Given the description of an element on the screen output the (x, y) to click on. 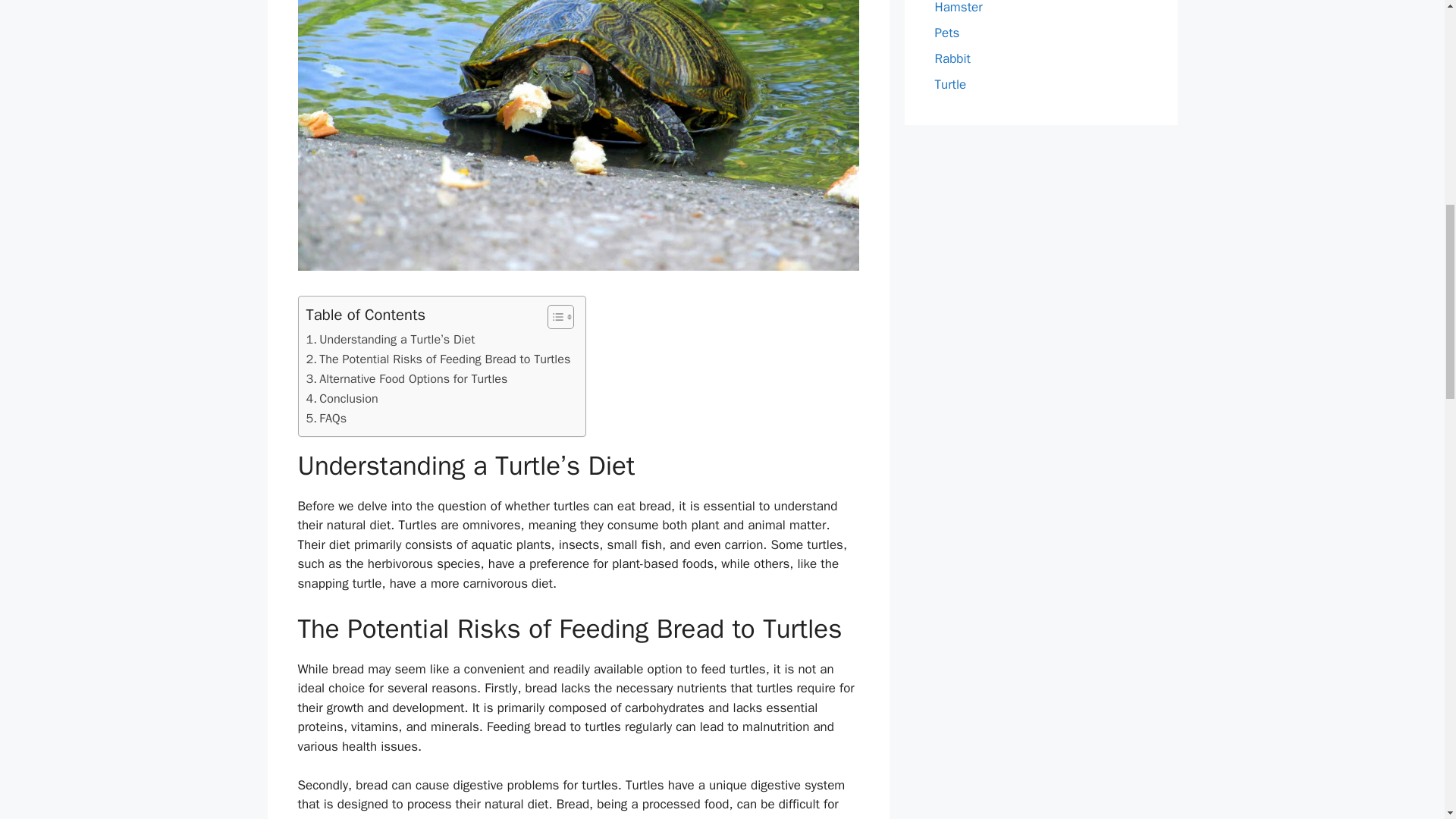
FAQs (326, 418)
Conclusion (341, 398)
Hamster (957, 7)
Conclusion (341, 398)
The Potential Risks of Feeding Bread to Turtles (437, 359)
FAQs (326, 418)
Alternative Food Options for Turtles (406, 379)
The Potential Risks of Feeding Bread to Turtles (437, 359)
Alternative Food Options for Turtles (406, 379)
